Given the description of an element on the screen output the (x, y) to click on. 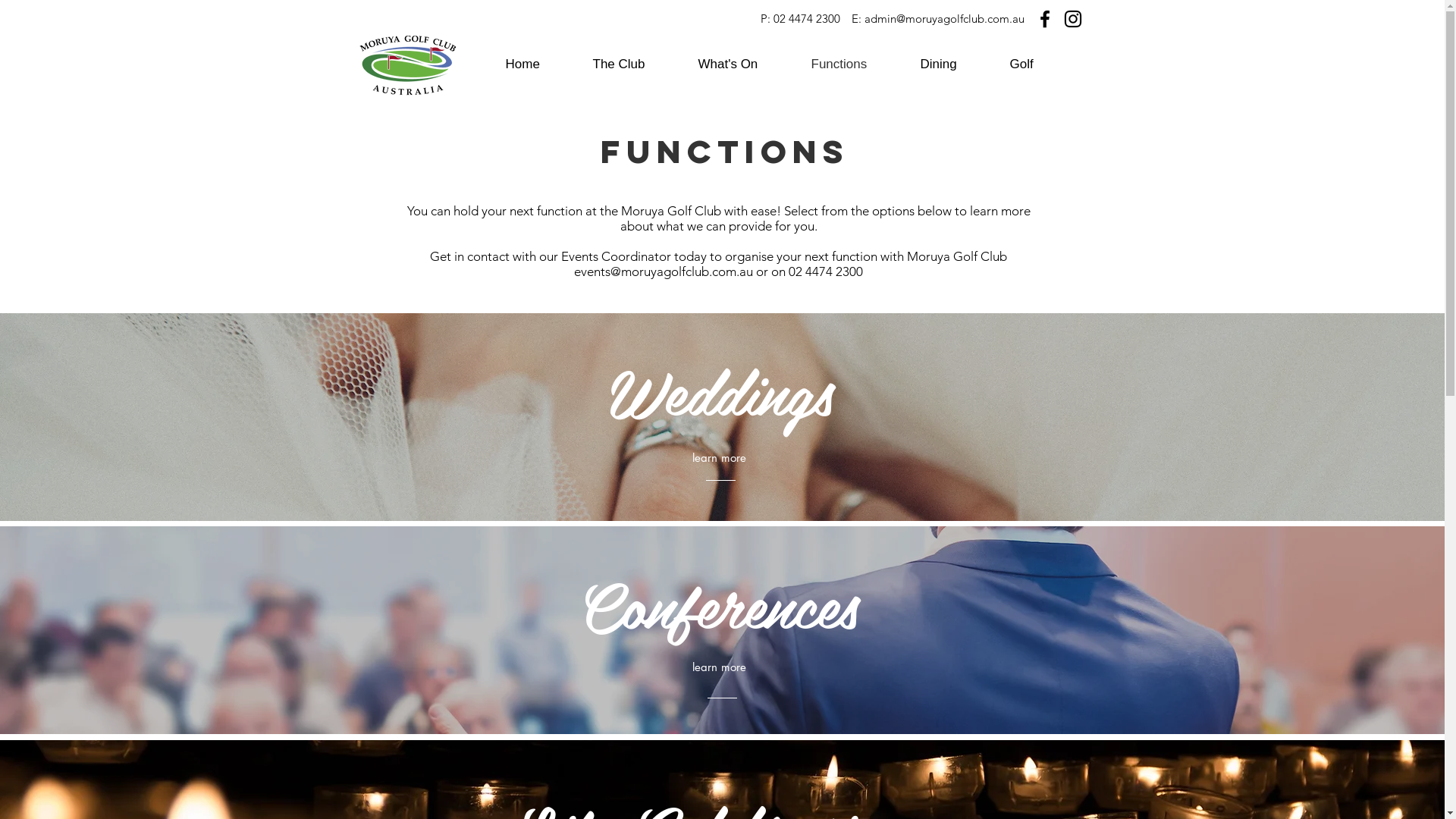
Home Element type: text (537, 63)
P: 02 4474 2300 Element type: text (799, 18)
Golf Element type: text (1035, 63)
Conferences Element type: text (718, 607)
events@moruyagolfclub.com.au Element type: text (663, 271)
E: admin@moruyagolfclub.com.au Element type: text (936, 18)
Weddings Element type: text (720, 394)
learn more Element type: text (718, 457)
Dining Element type: text (952, 63)
What's On Element type: text (743, 63)
Functions Element type: text (853, 63)
learn more Element type: text (718, 666)
The Club Element type: text (633, 63)
